Given the description of an element on the screen output the (x, y) to click on. 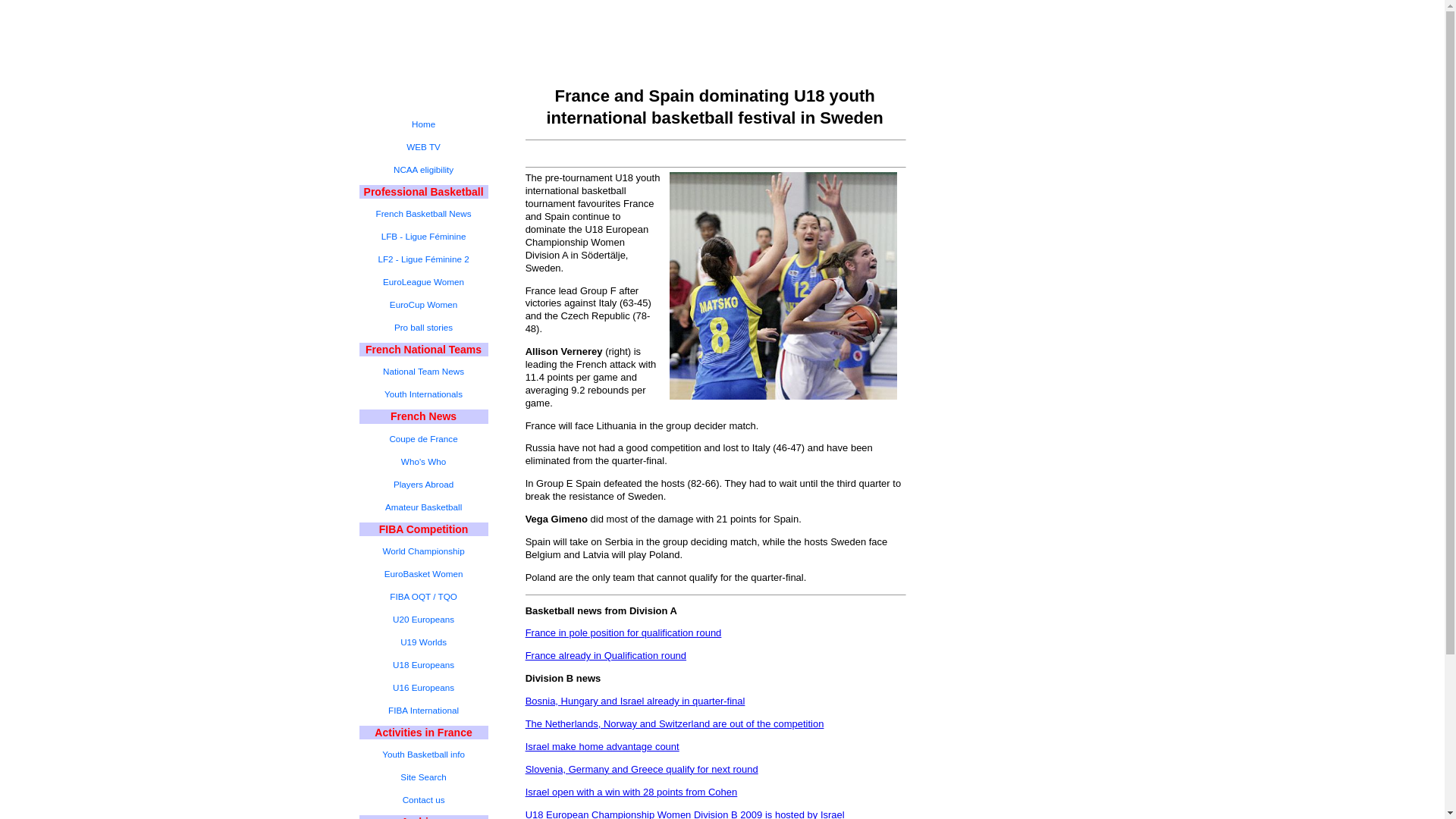
EuroBasket Women (423, 573)
Coupe de France (423, 438)
EuroCup Women (423, 304)
National Team News (423, 371)
U19 Worlds (423, 641)
FIBA International (423, 710)
Home (422, 124)
World Championship (423, 550)
Contact us (423, 799)
Who's Who (423, 461)
Israel open with a win with 28 points from Cohen (631, 791)
U16 Europeans (423, 687)
Slovenia, Germany and Greece qualify for next round (641, 768)
